Given the description of an element on the screen output the (x, y) to click on. 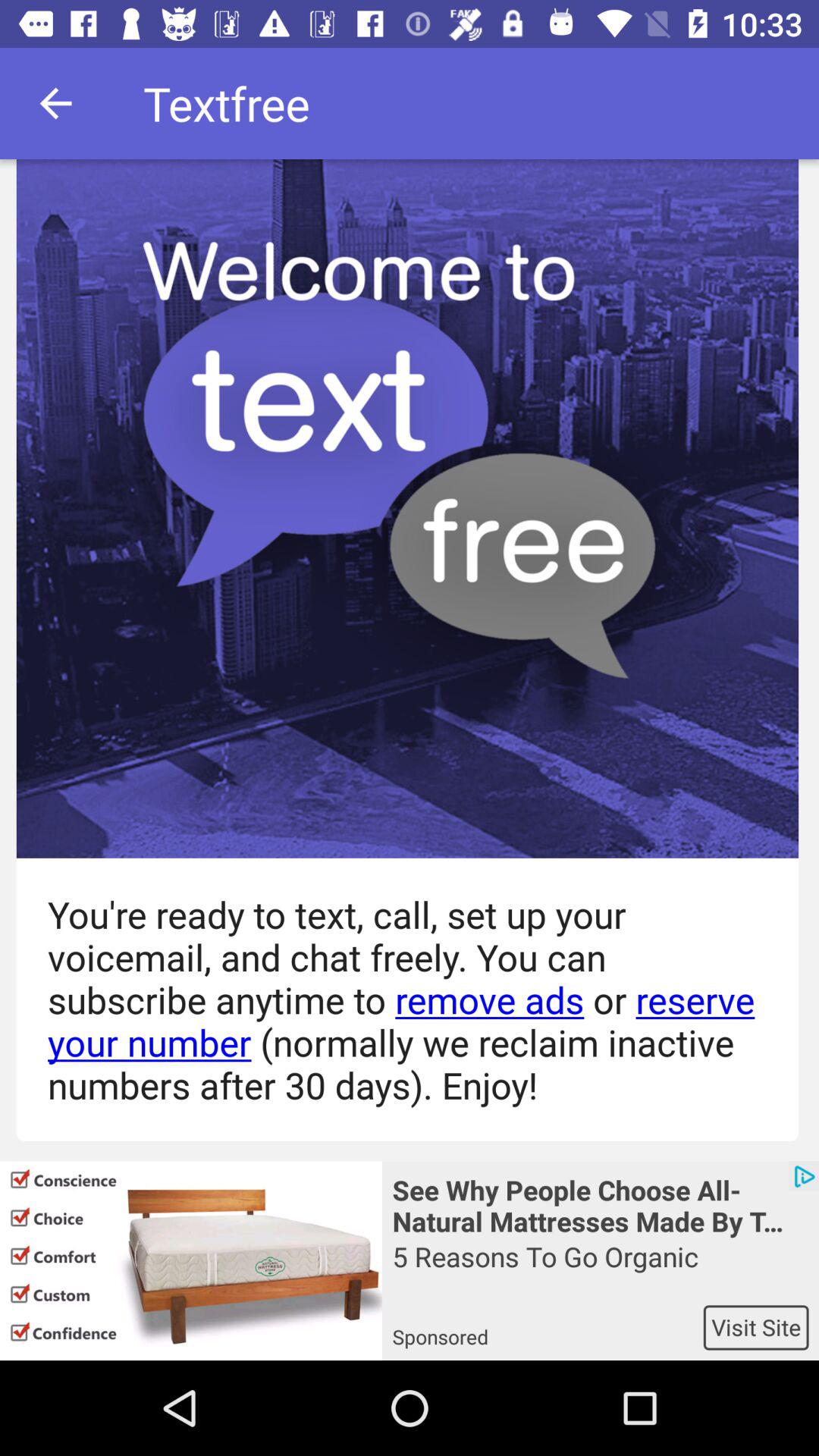
open the see why people icon (600, 1204)
